Given the description of an element on the screen output the (x, y) to click on. 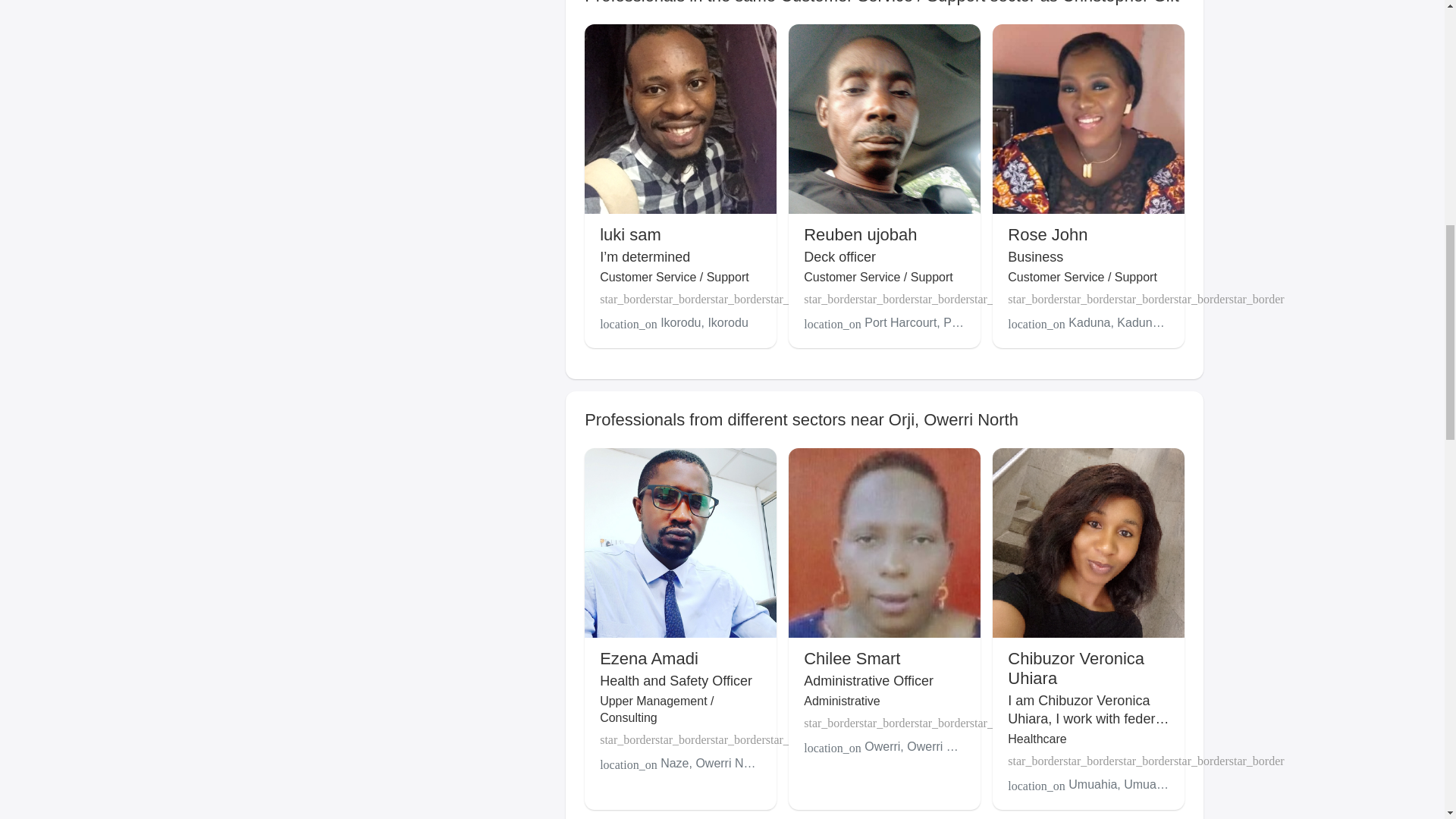
Reuben ujobah (860, 234)
luki sam (630, 234)
Chibuzor Veronica Uhiara (1075, 668)
Ezena Amadi (648, 658)
Chilee Smart (851, 658)
Rose  John  (1047, 234)
Ezena Amadi (648, 658)
Rose John (1047, 234)
Chilee Smart (851, 658)
Reuben ujobah (860, 234)
